Given the description of an element on the screen output the (x, y) to click on. 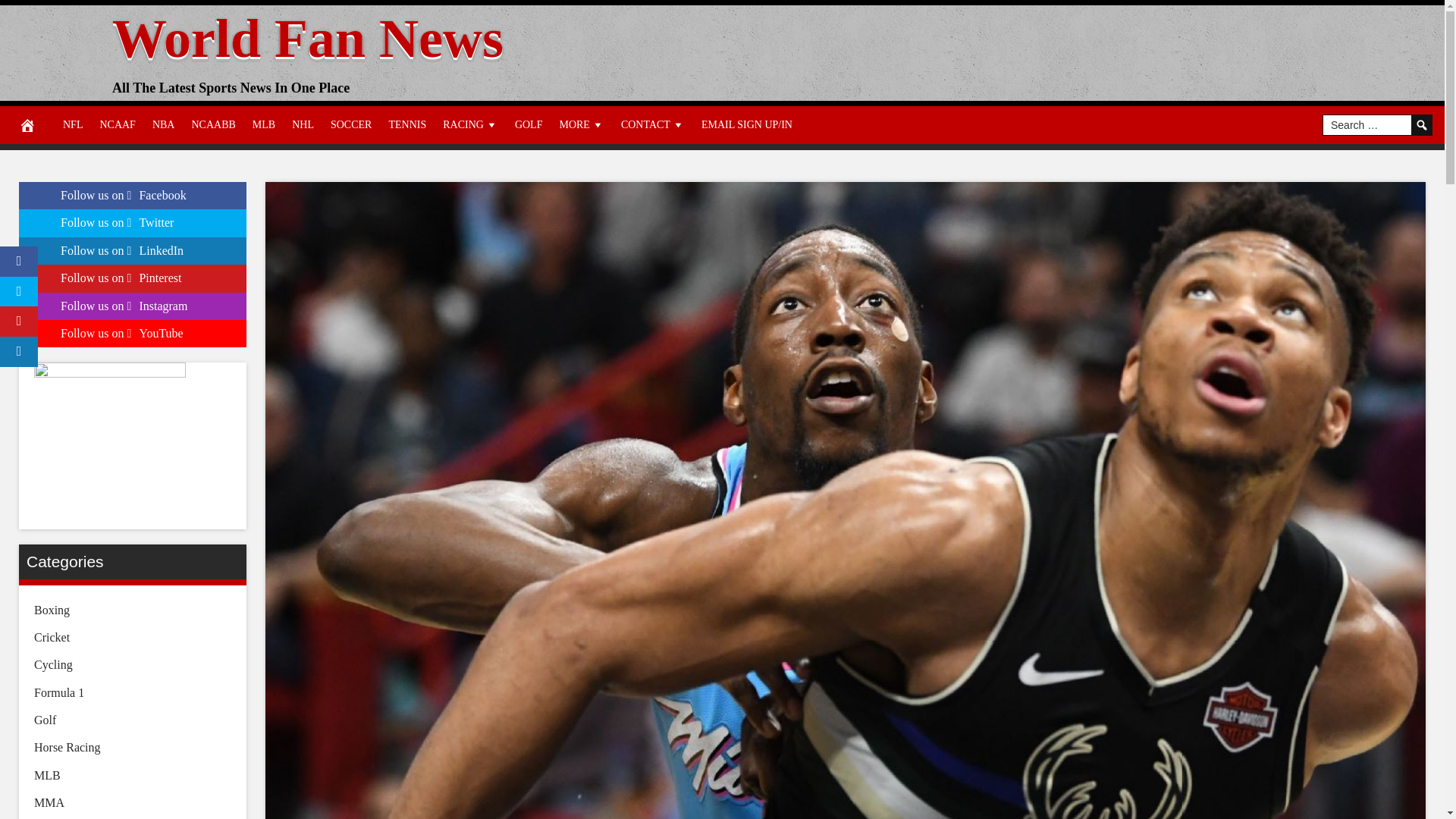
NFL (72, 125)
NBA (163, 125)
NCAABB (213, 125)
NCAAF (116, 125)
World Fan News (307, 38)
